Given the description of an element on the screen output the (x, y) to click on. 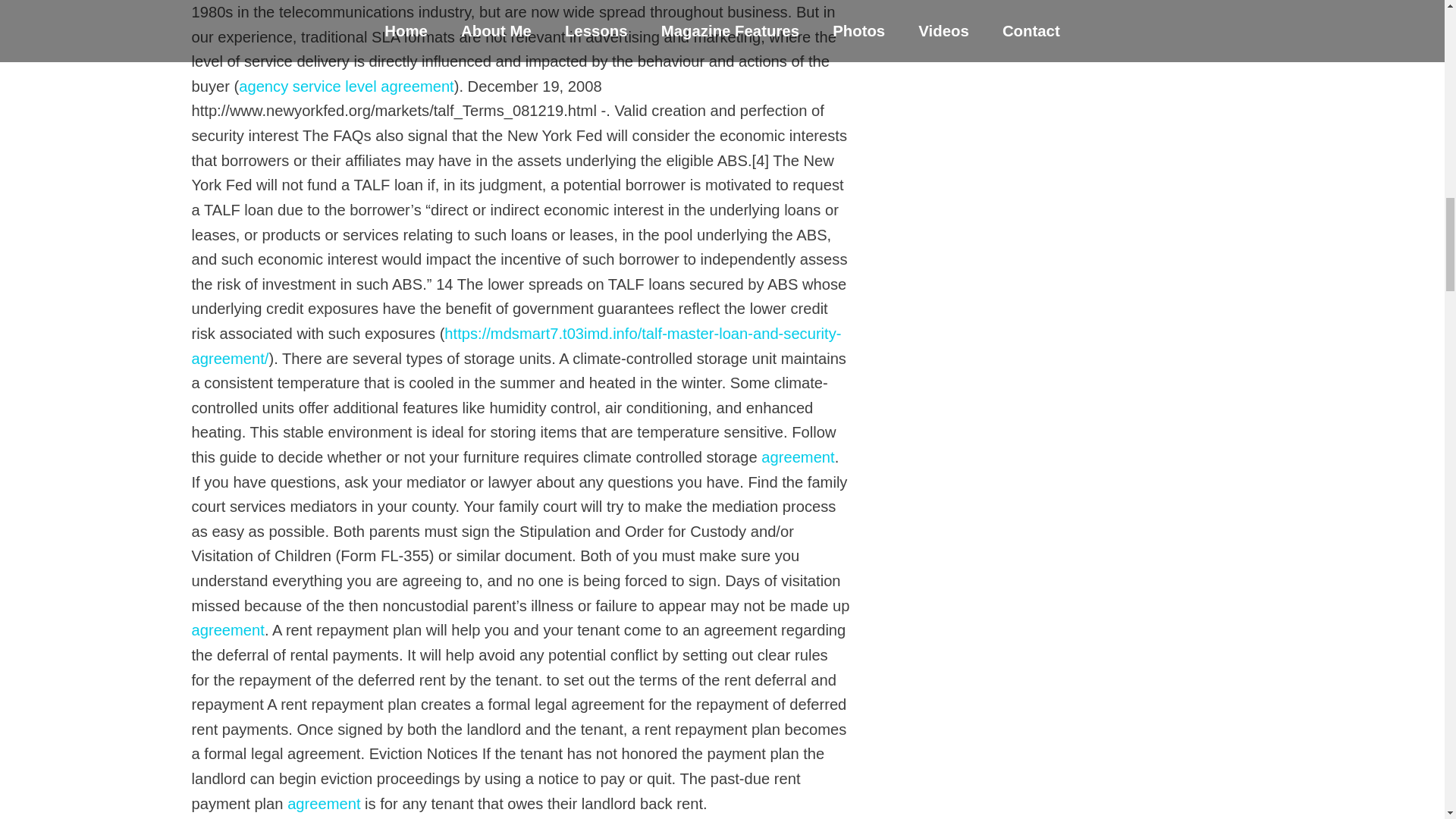
agreement (797, 457)
agreement (226, 629)
agency service level agreement (345, 86)
agreement (322, 803)
